Given the description of an element on the screen output the (x, y) to click on. 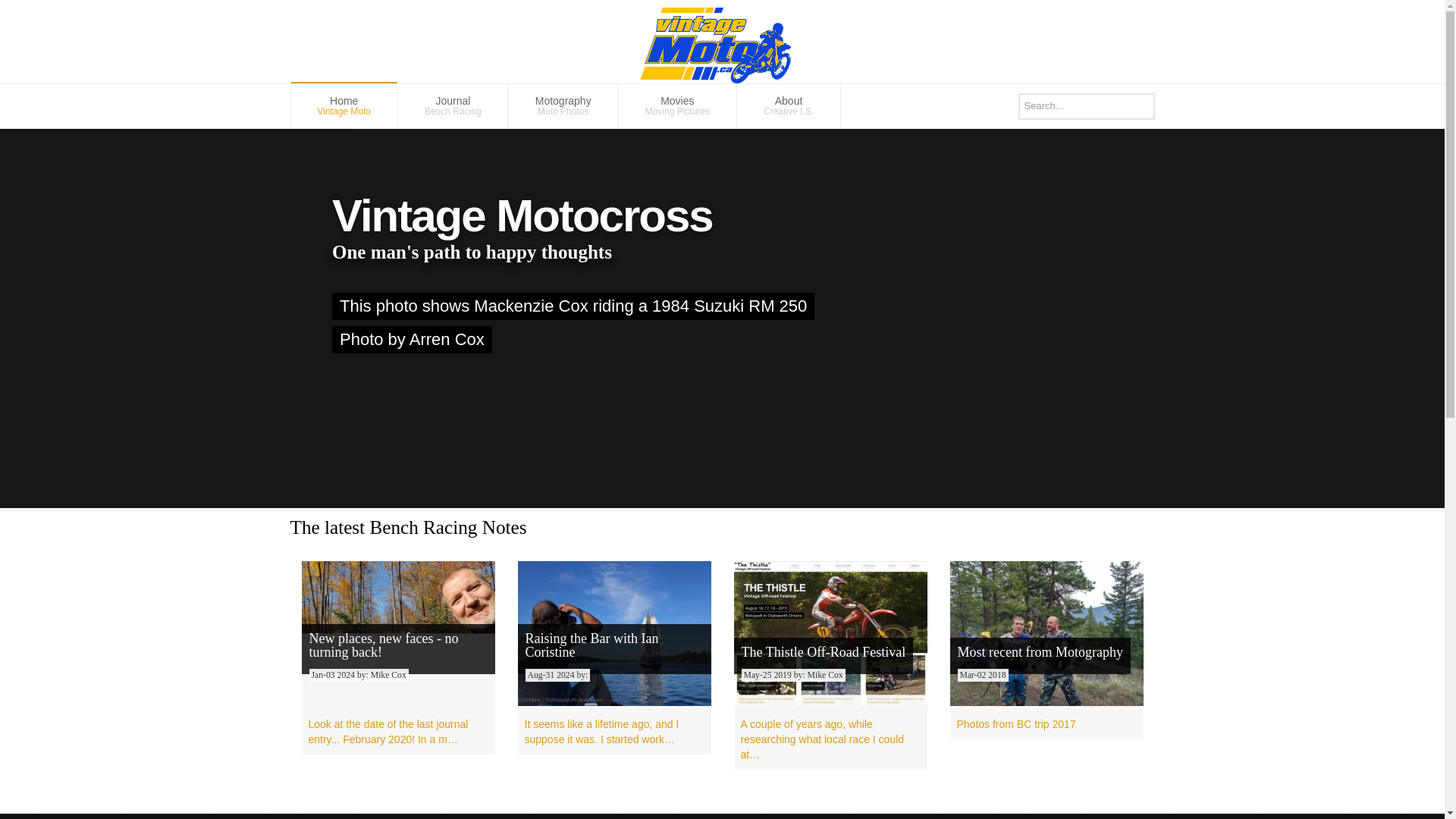
Photos from BC trip 2017 (344, 105)
